Given the description of an element on the screen output the (x, y) to click on. 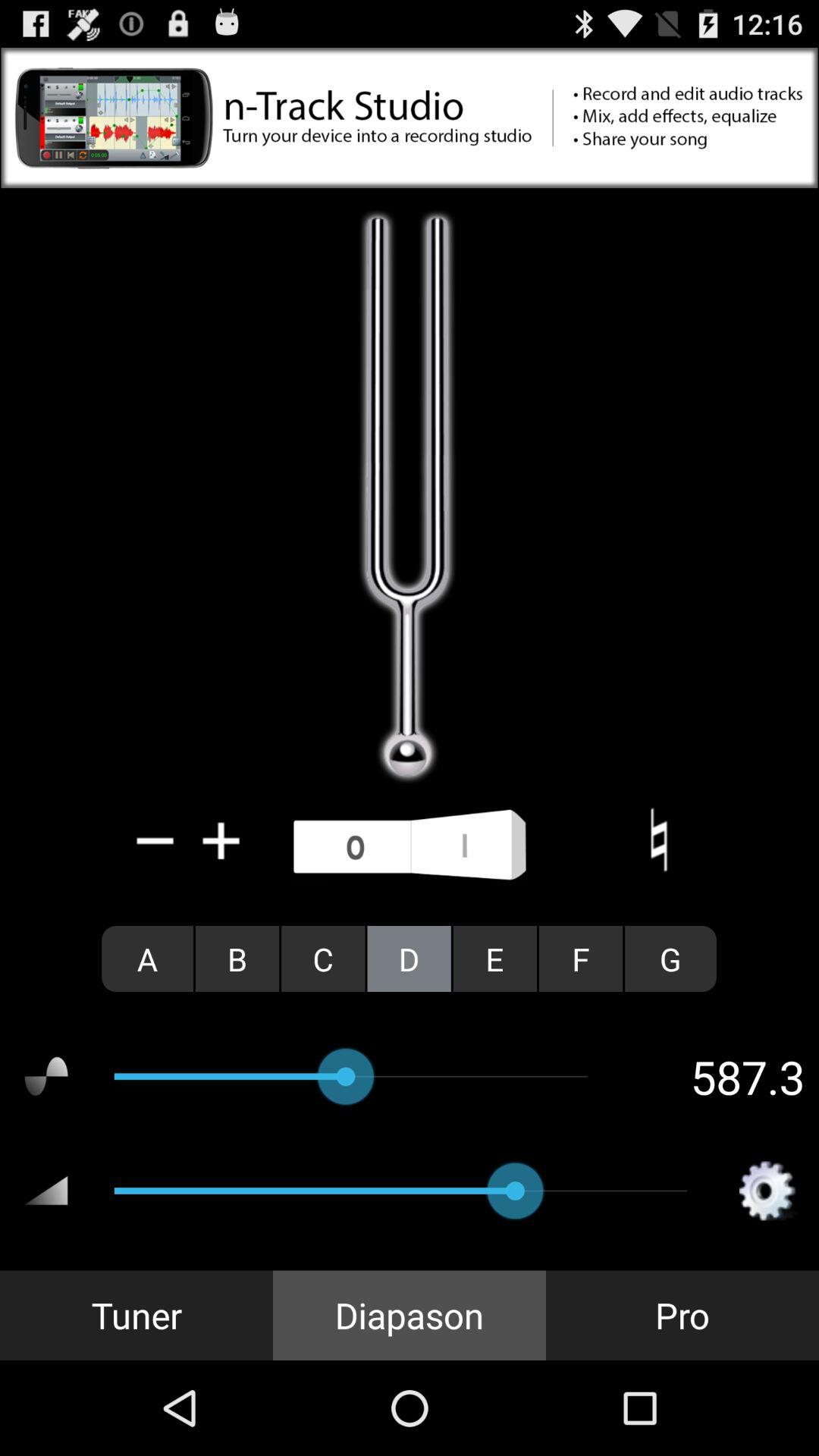
click the radio button next to the a item (237, 958)
